Given the description of an element on the screen output the (x, y) to click on. 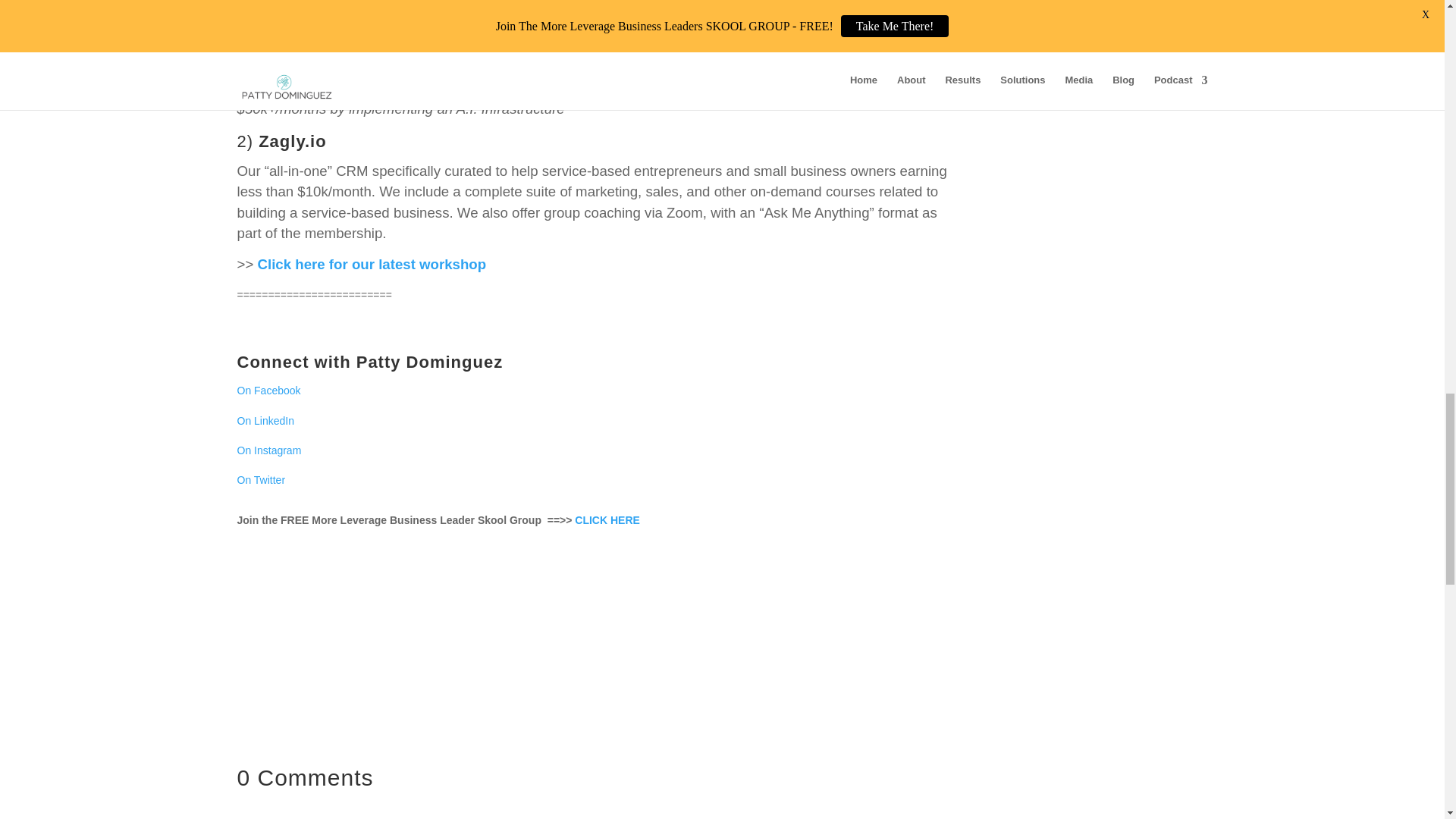
Skool wp banner (592, 646)
Click here for our latest workshop (371, 263)
On Twitter (260, 480)
On Instagram (268, 450)
CLICK HERE (607, 520)
On LinkedIn (264, 420)
On Facebook (267, 390)
Click here for our latest 41-Page report (387, 88)
